Given the description of an element on the screen output the (x, y) to click on. 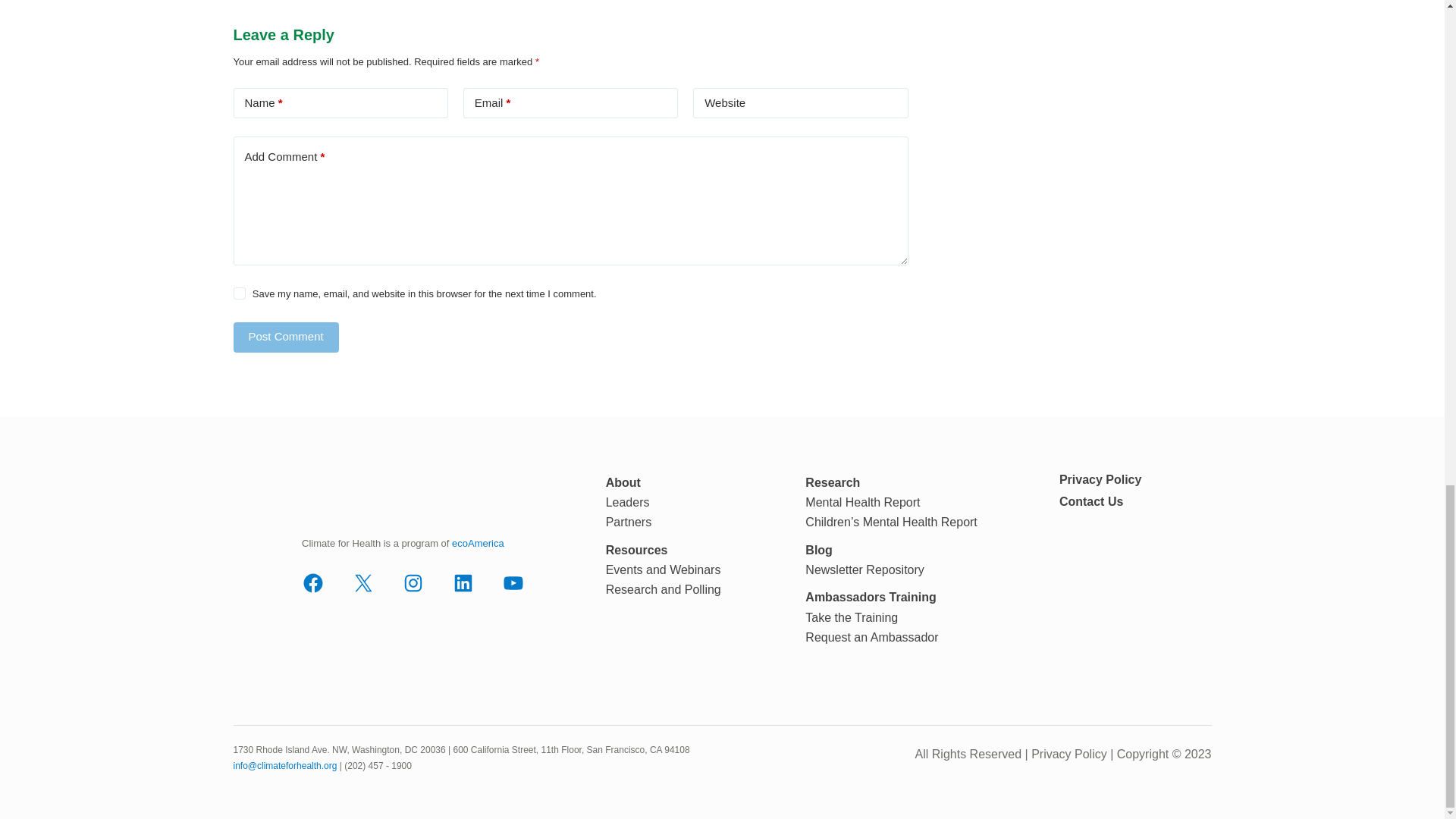
yes (239, 293)
